Given the description of an element on the screen output the (x, y) to click on. 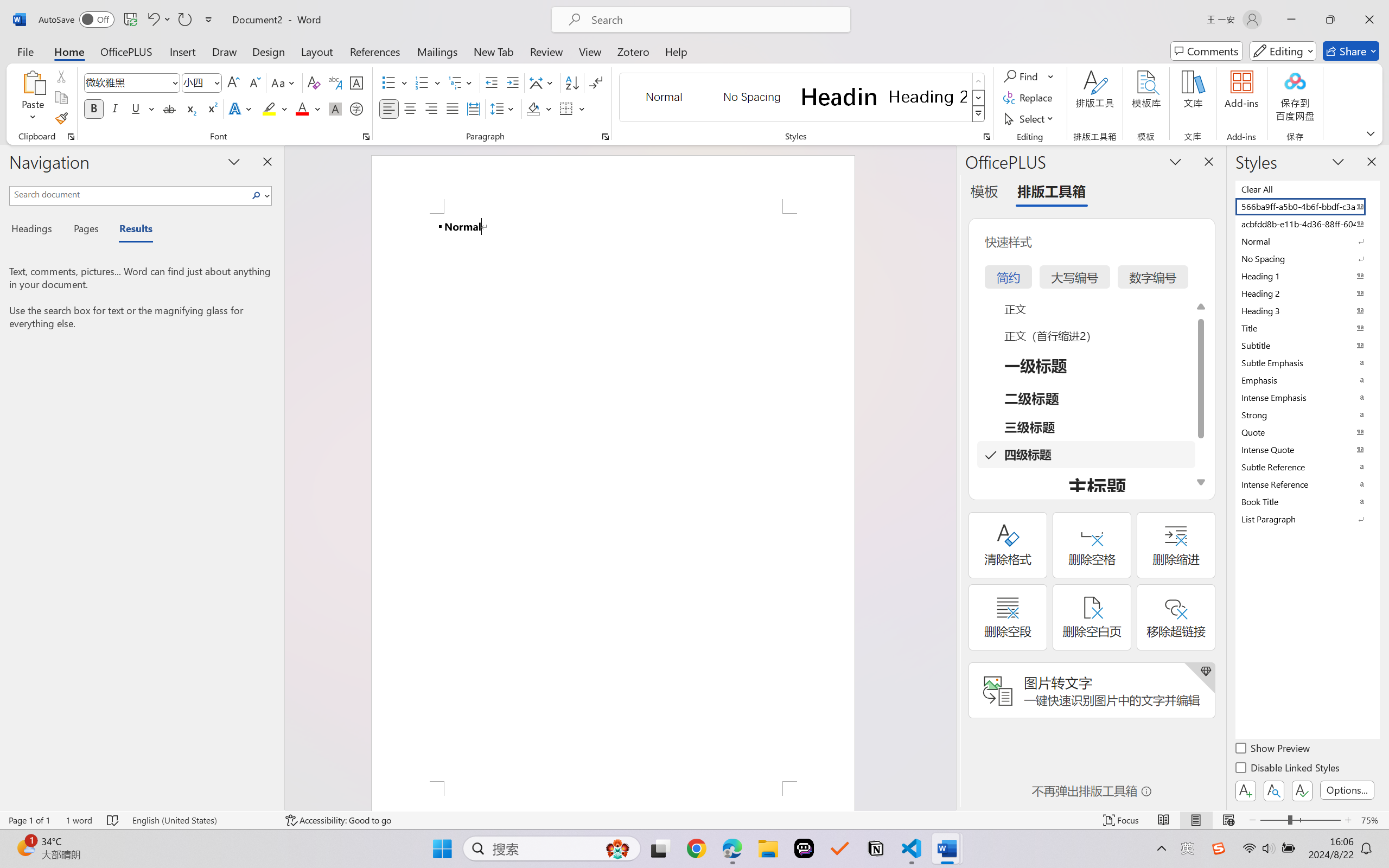
Save (130, 19)
Strong (1306, 414)
Strikethrough (169, 108)
Minimize (1291, 19)
Sort... (571, 82)
Borders (571, 108)
Styles (978, 113)
Design (268, 51)
Results (130, 229)
Bullets (388, 82)
Font (126, 82)
Bold (94, 108)
Font Size (196, 82)
